Given the description of an element on the screen output the (x, y) to click on. 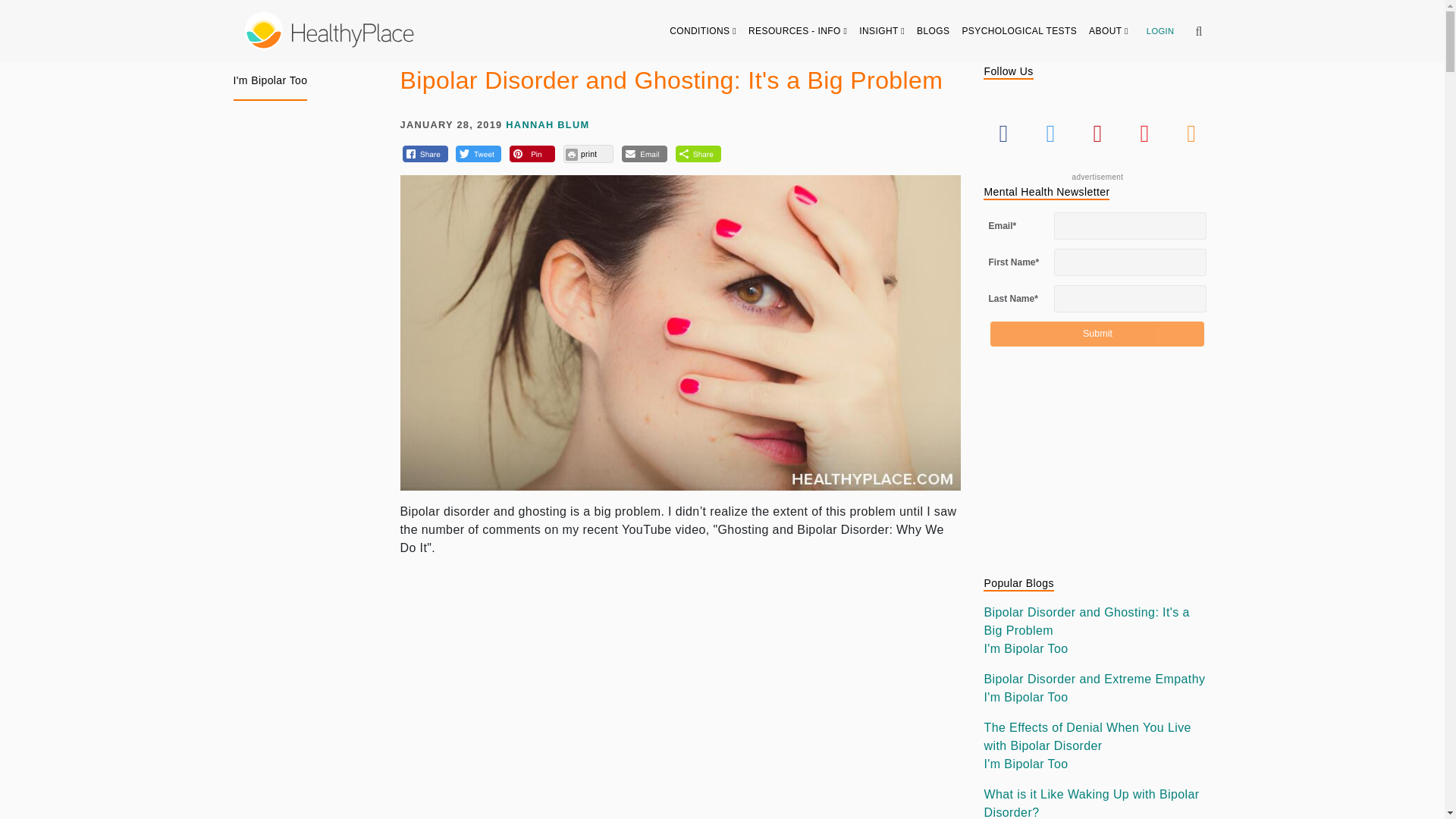
Submit (1097, 333)
CONDITIONS (702, 31)
INSIGHT (882, 31)
RESOURCES - INFO (797, 31)
